Given the description of an element on the screen output the (x, y) to click on. 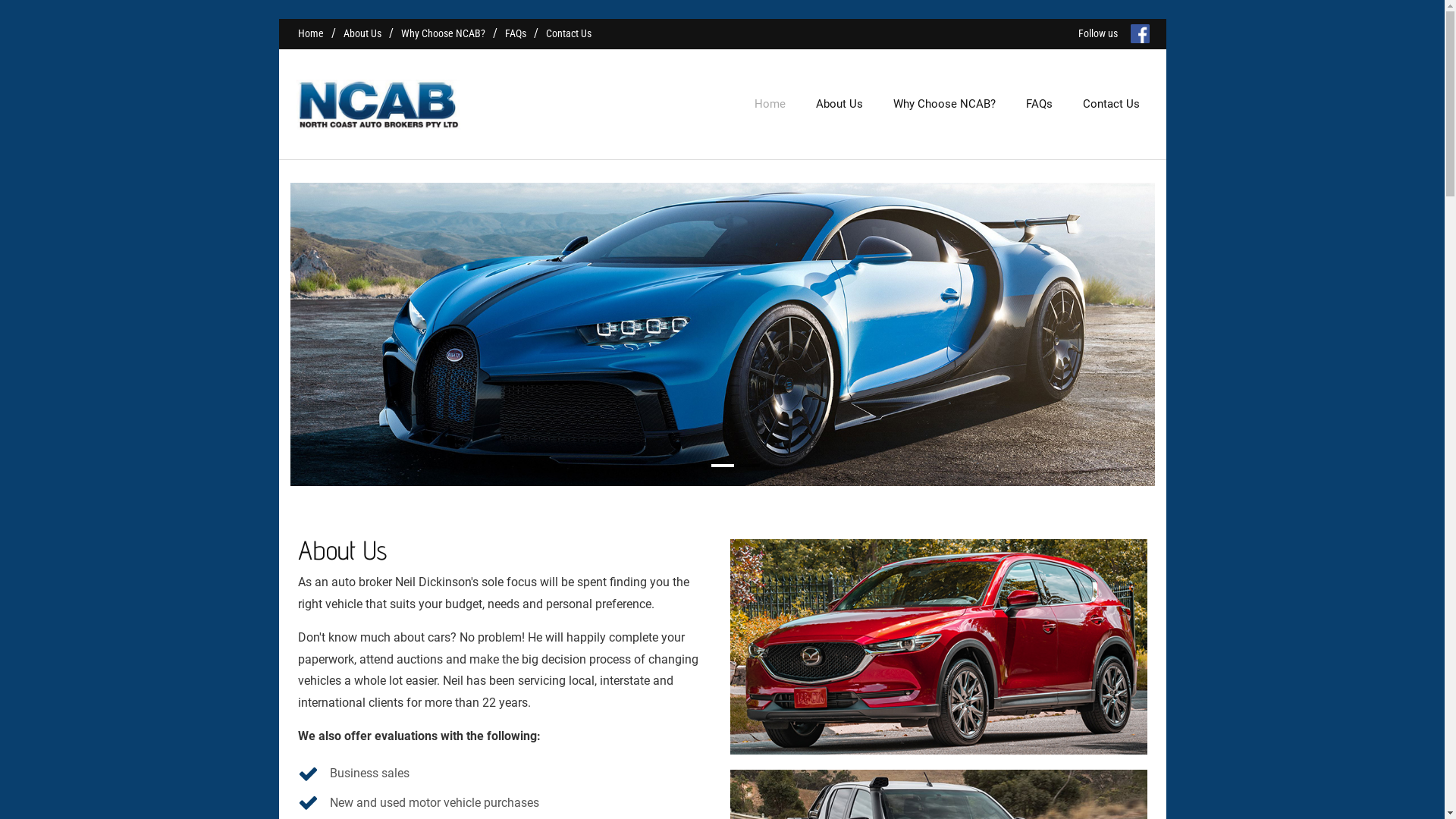
Home Element type: text (309, 33)
2 Element type: text (722, 465)
Why Choose NCAB? Element type: text (442, 33)
About Us Element type: text (361, 33)
Contact Us Element type: text (1110, 104)
Contact Us Element type: text (568, 33)
About Us Element type: text (839, 104)
FAQs Element type: text (515, 33)
Home Element type: text (769, 104)
FAQs Element type: text (1038, 104)
New Mazda Element type: hover (937, 646)
Why Choose NCAB? Element type: text (944, 104)
1 Element type: text (696, 465)
3 Element type: text (748, 465)
